Given the description of an element on the screen output the (x, y) to click on. 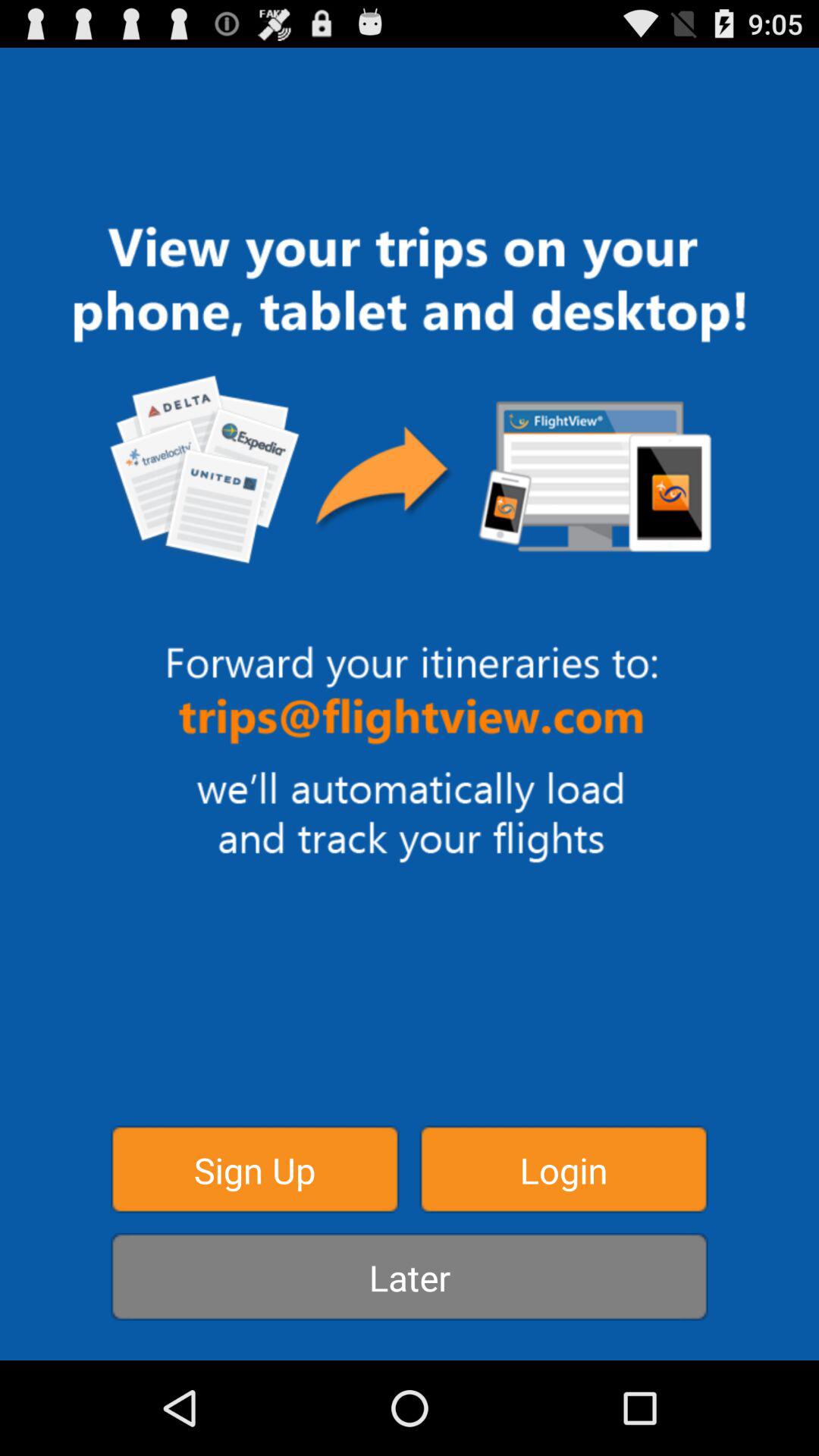
swipe until the sign up icon (254, 1169)
